Given the description of an element on the screen output the (x, y) to click on. 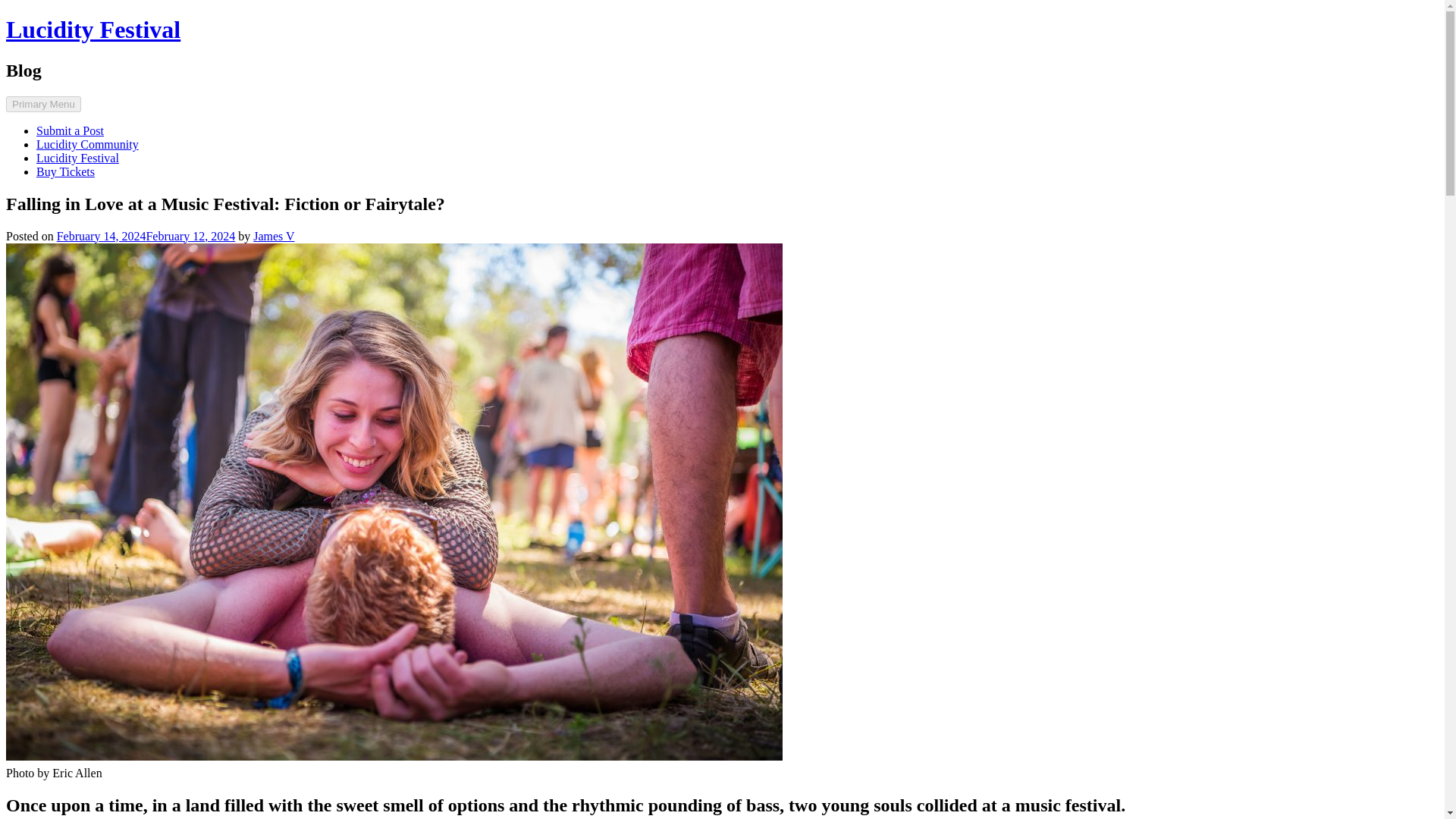
Buy Tickets (65, 171)
Lucidity Festival (77, 157)
February 14, 2024February 12, 2024 (145, 236)
Primary Menu (43, 104)
Submit a Post (69, 130)
Lucidity Festival (92, 29)
James V (273, 236)
Lucidity Community (87, 144)
